Given the description of an element on the screen output the (x, y) to click on. 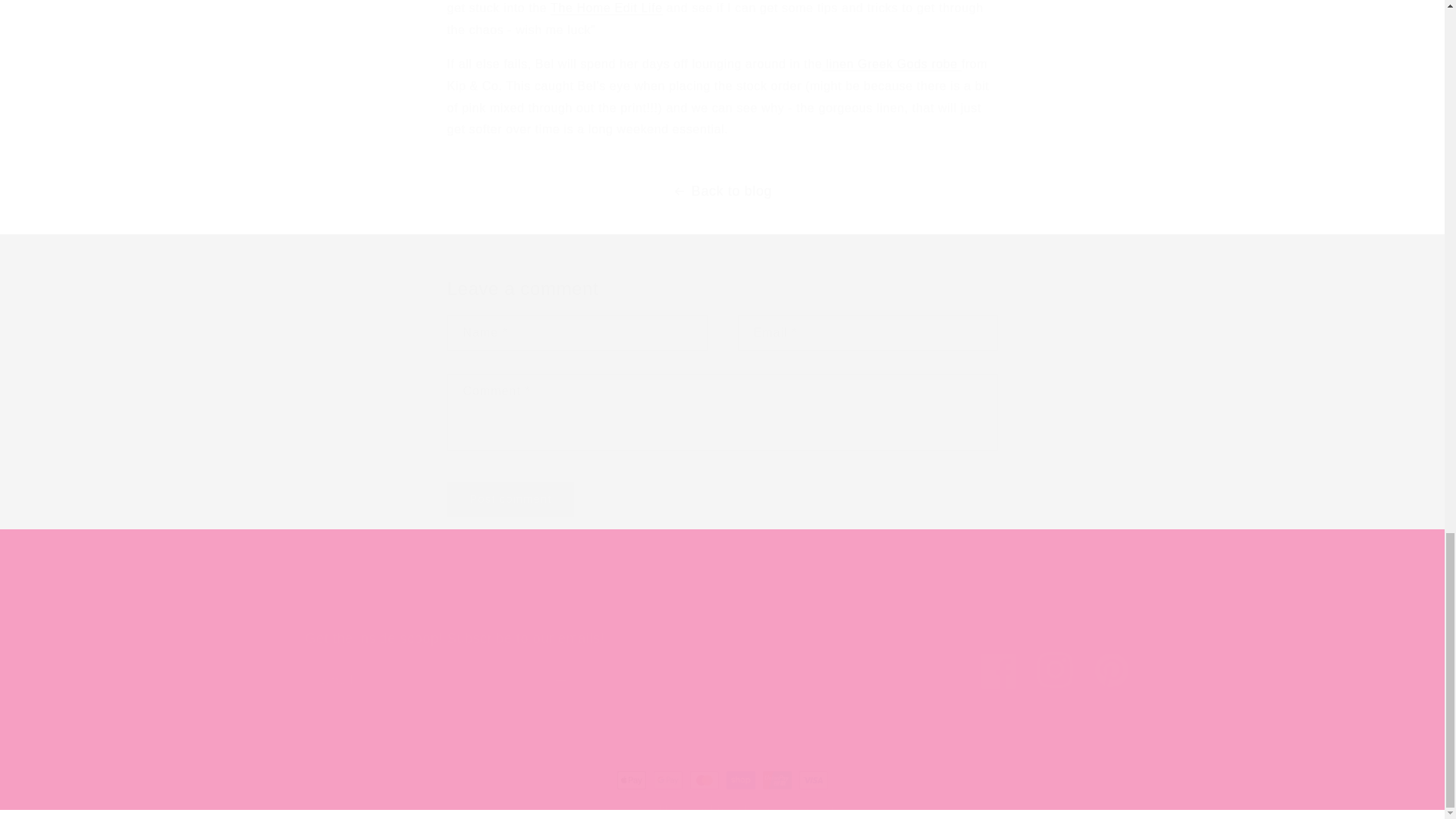
The Home Edit Life (606, 7)
Post comment (510, 498)
